Given the description of an element on the screen output the (x, y) to click on. 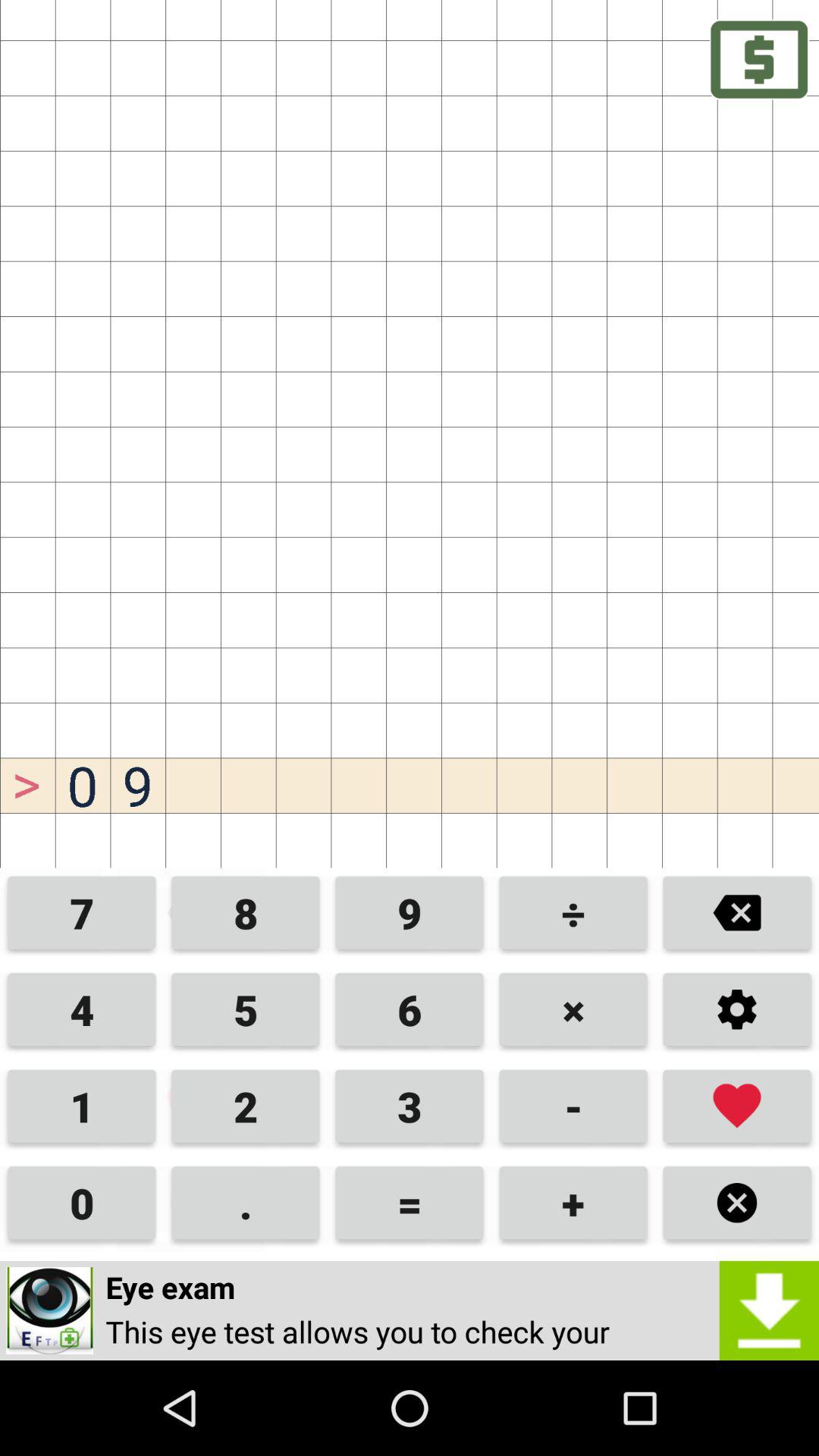
close button (737, 1202)
